Given the description of an element on the screen output the (x, y) to click on. 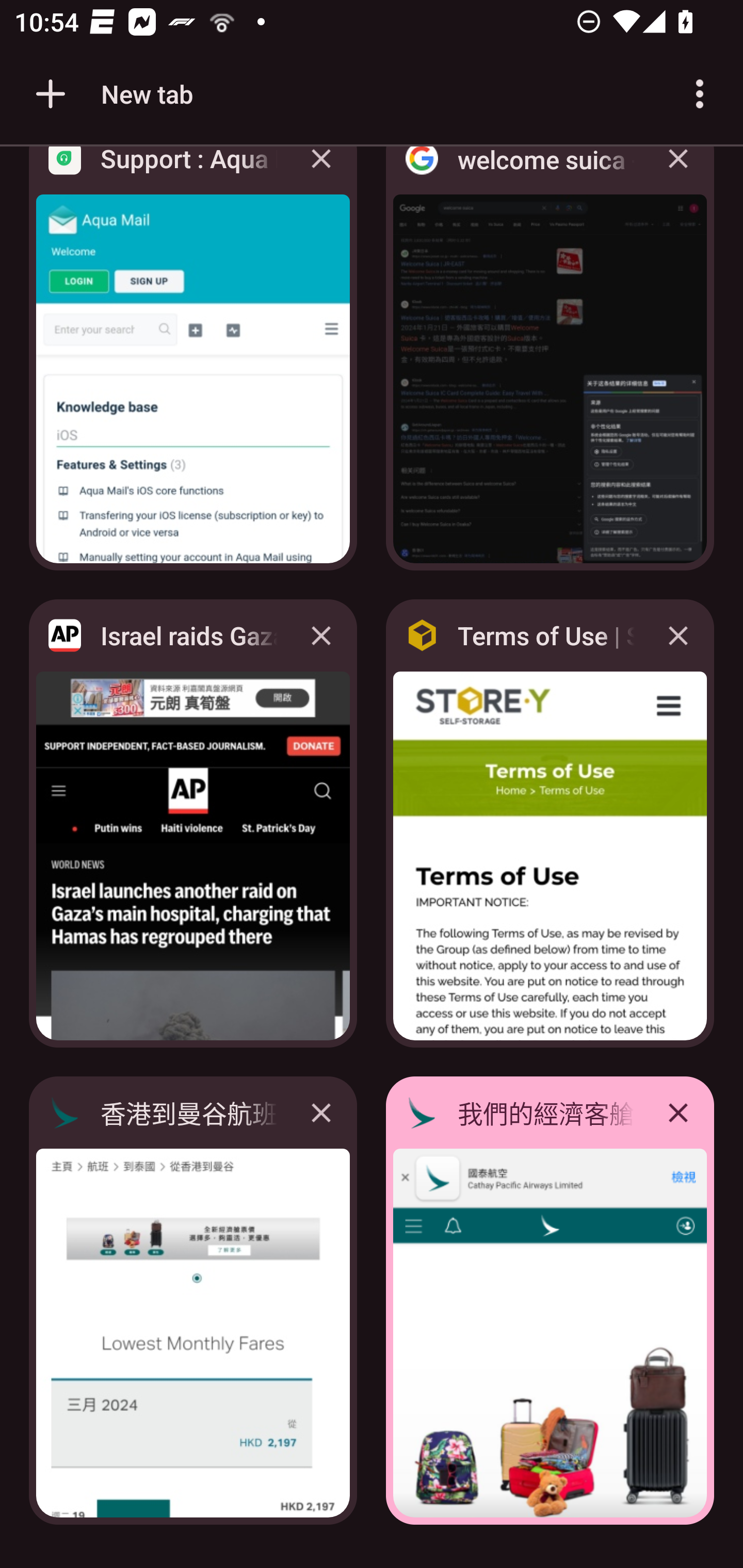
New tab (111, 93)
Customize and control Google Chrome (699, 93)
Close Support : Aqua Mail tab (320, 173)
Close welcome suica - Google 搜索 tab (677, 173)
Close Terms of Use | Store-Y Self Storage tab (677, 635)
我們的經濟客艙票價 我們的經濟客艙票價, tab Close 我們的經濟客艙票價 tab (549, 1300)
Close 香港到曼谷航班 | 香港去曼谷機票優惠 | 國泰航空 tab (320, 1112)
Close 我們的經濟客艙票價 tab (677, 1112)
